Given the description of an element on the screen output the (x, y) to click on. 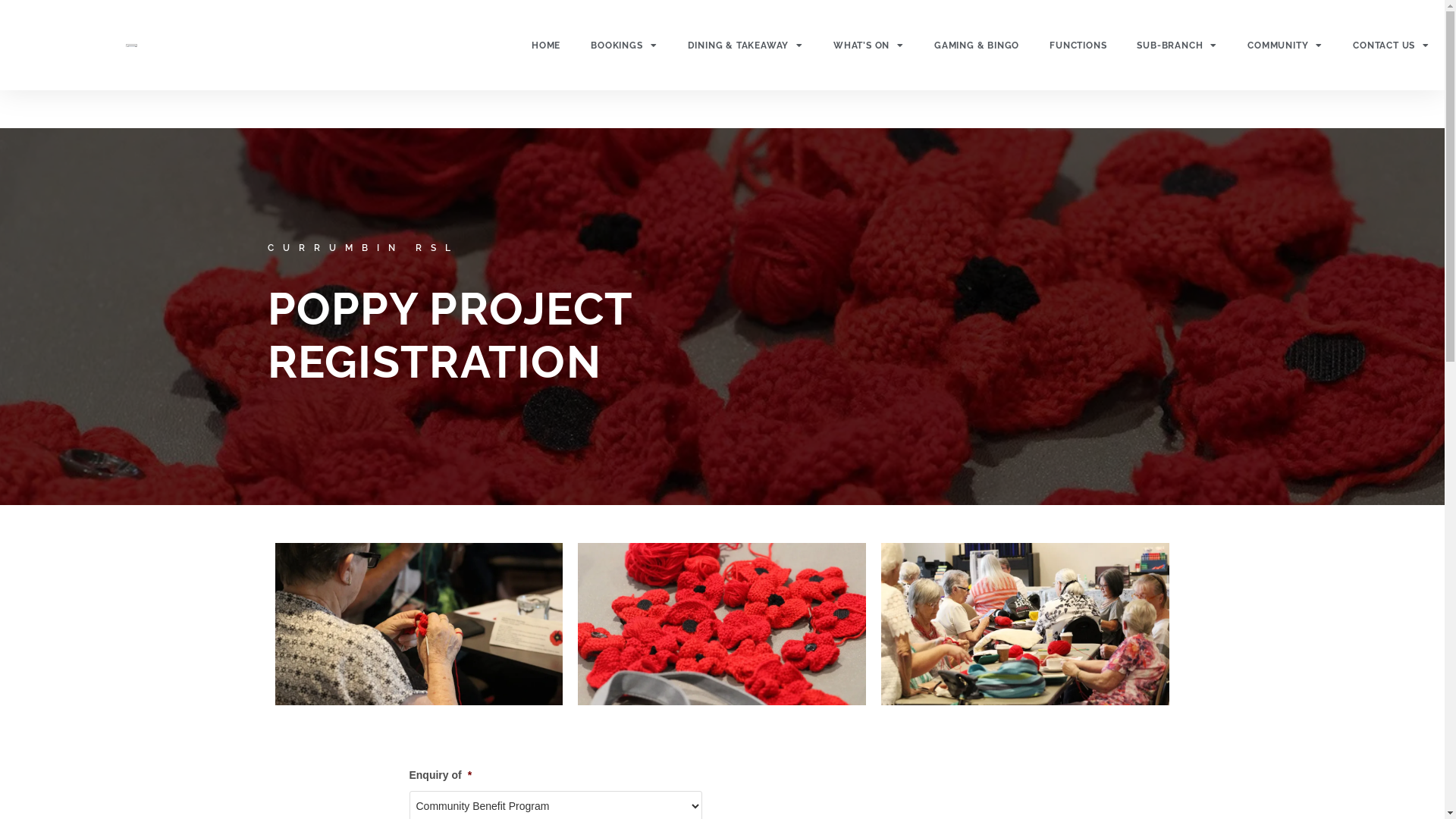
CONTACT US Element type: text (1390, 44)
SUB-BRANCH Element type: text (1176, 44)
BOOKINGS Element type: text (623, 44)
HOME Element type: text (545, 44)
DINING & TAKEAWAY Element type: text (744, 44)
COMMUNITY Element type: text (1284, 44)
FUNCTIONS Element type: text (1077, 44)
GAMING & BINGO Element type: text (976, 44)
